Given the description of an element on the screen output the (x, y) to click on. 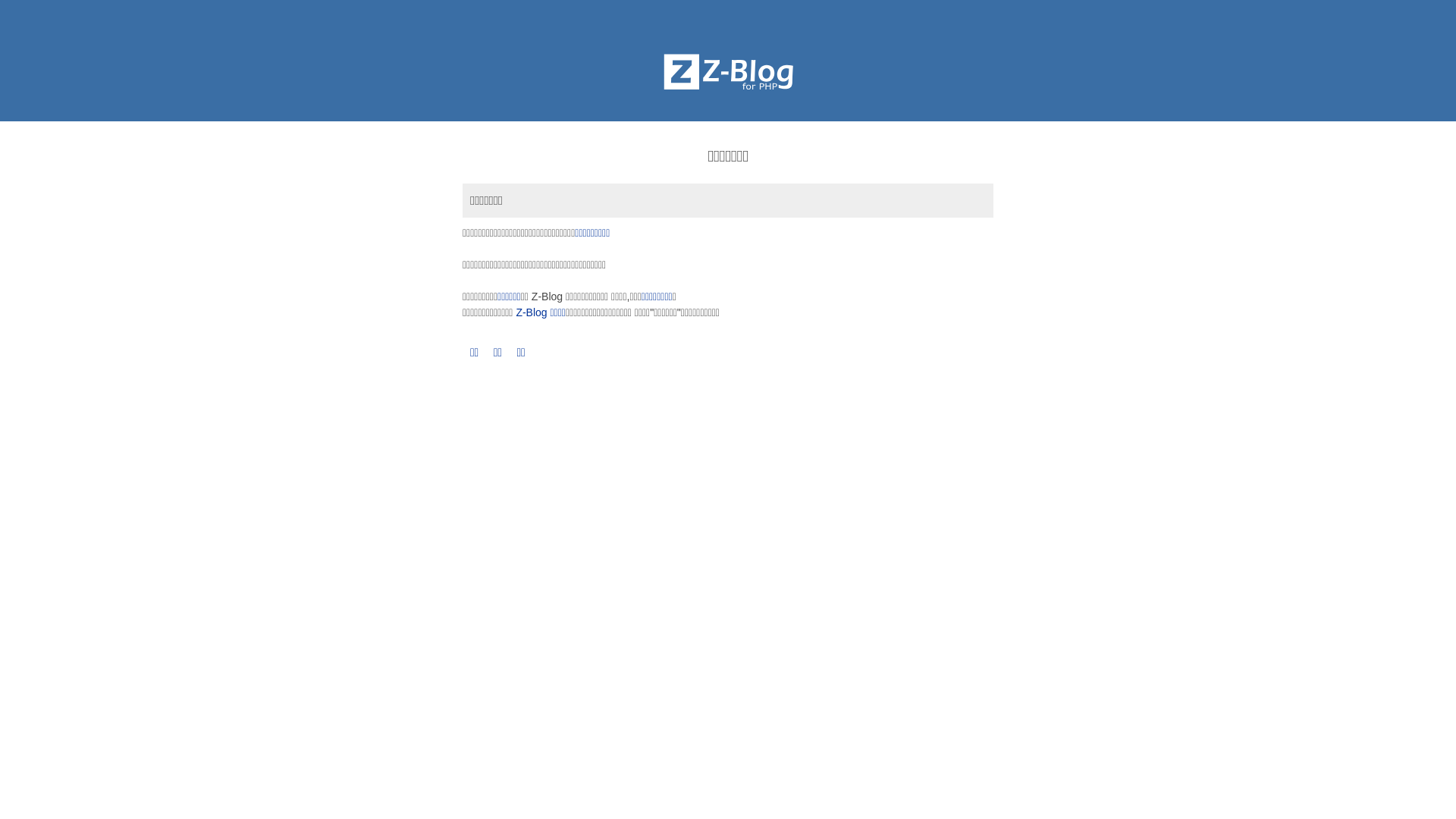
Z-BlogPHP Element type: hover (727, 71)
